Given the description of an element on the screen output the (x, y) to click on. 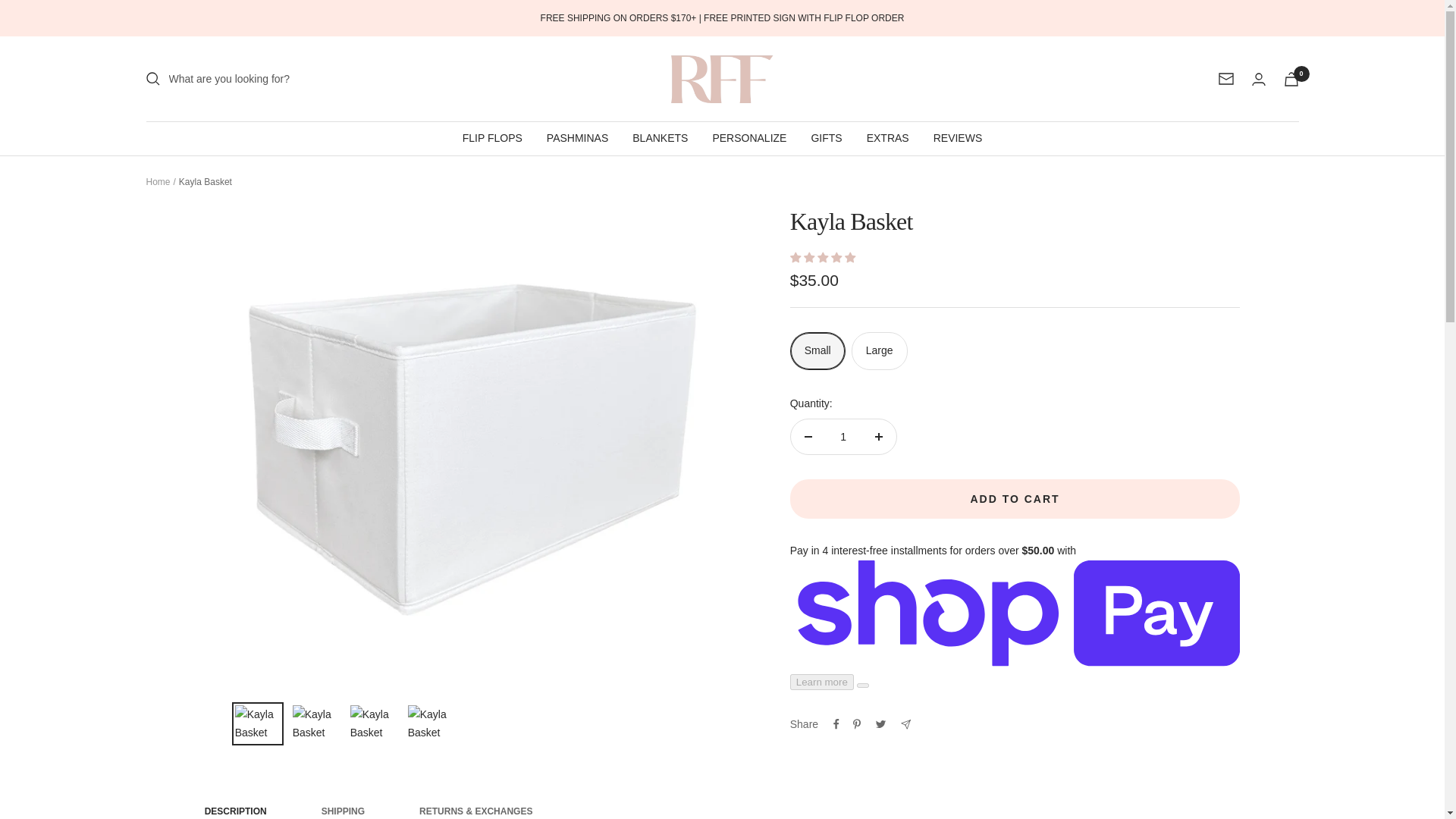
0 (1290, 79)
1 (843, 436)
GIFTS (825, 137)
Reception Flip Flops (721, 78)
PERSONALIZE (748, 137)
Newsletter (1225, 78)
REVIEWS (957, 137)
EXTRAS (887, 137)
PASHMINAS (577, 137)
